Given the description of an element on the screen output the (x, y) to click on. 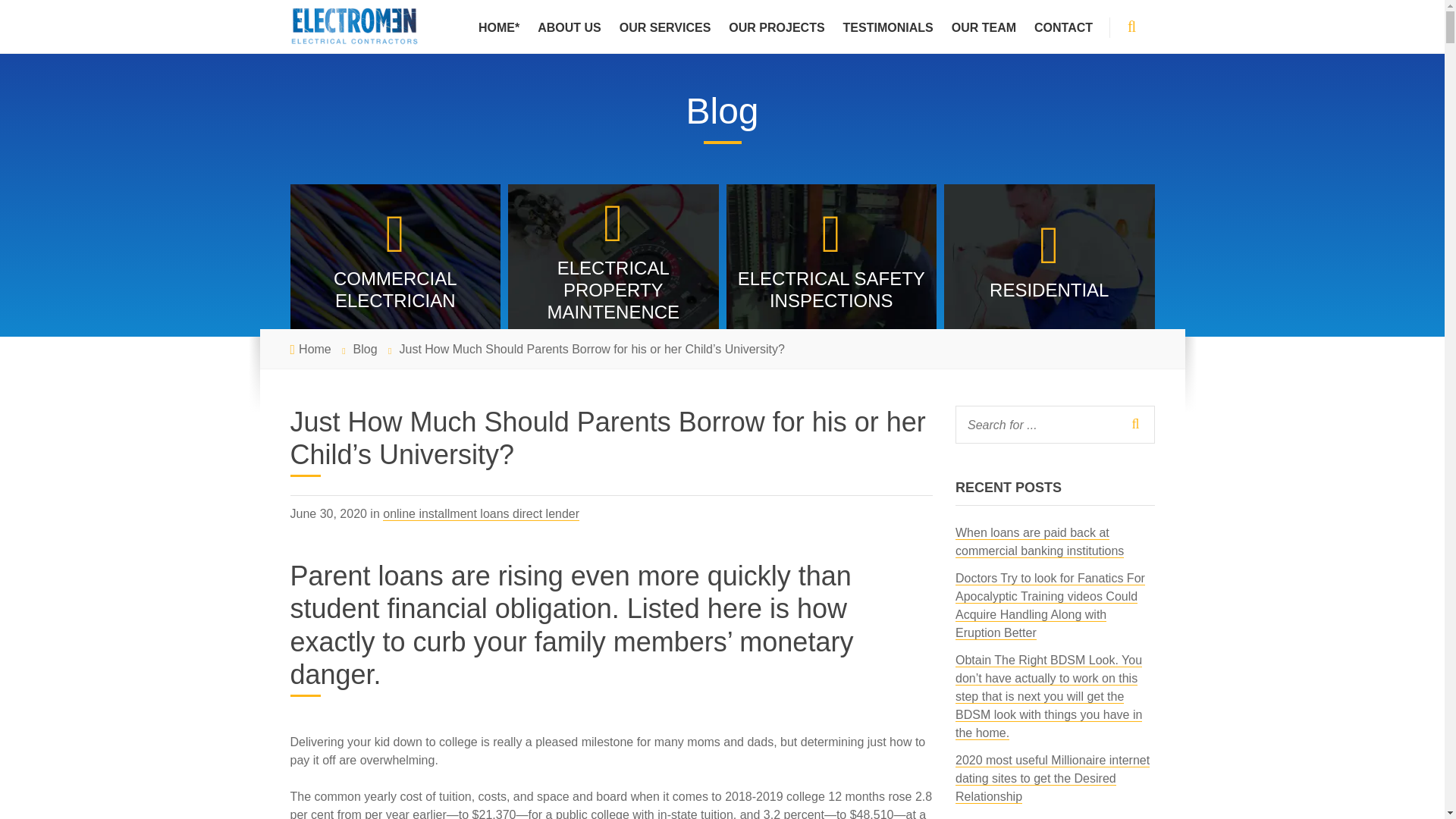
online installment loans direct lender (480, 513)
ELECTRICAL PROPERTY MAINTENENCE (613, 260)
Home (314, 349)
ELECTRICAL SAFETY INSPECTIONS (831, 260)
Blog (365, 349)
COMMERCIAL ELECTRICIAN (394, 260)
CONTACT (1063, 27)
OUR PROJECTS (775, 27)
RESIDENTIAL (1048, 260)
OUR SERVICES (665, 27)
OUR TEAM (983, 27)
When loans are paid back at commercial banking institutions (1039, 541)
